Given the description of an element on the screen output the (x, y) to click on. 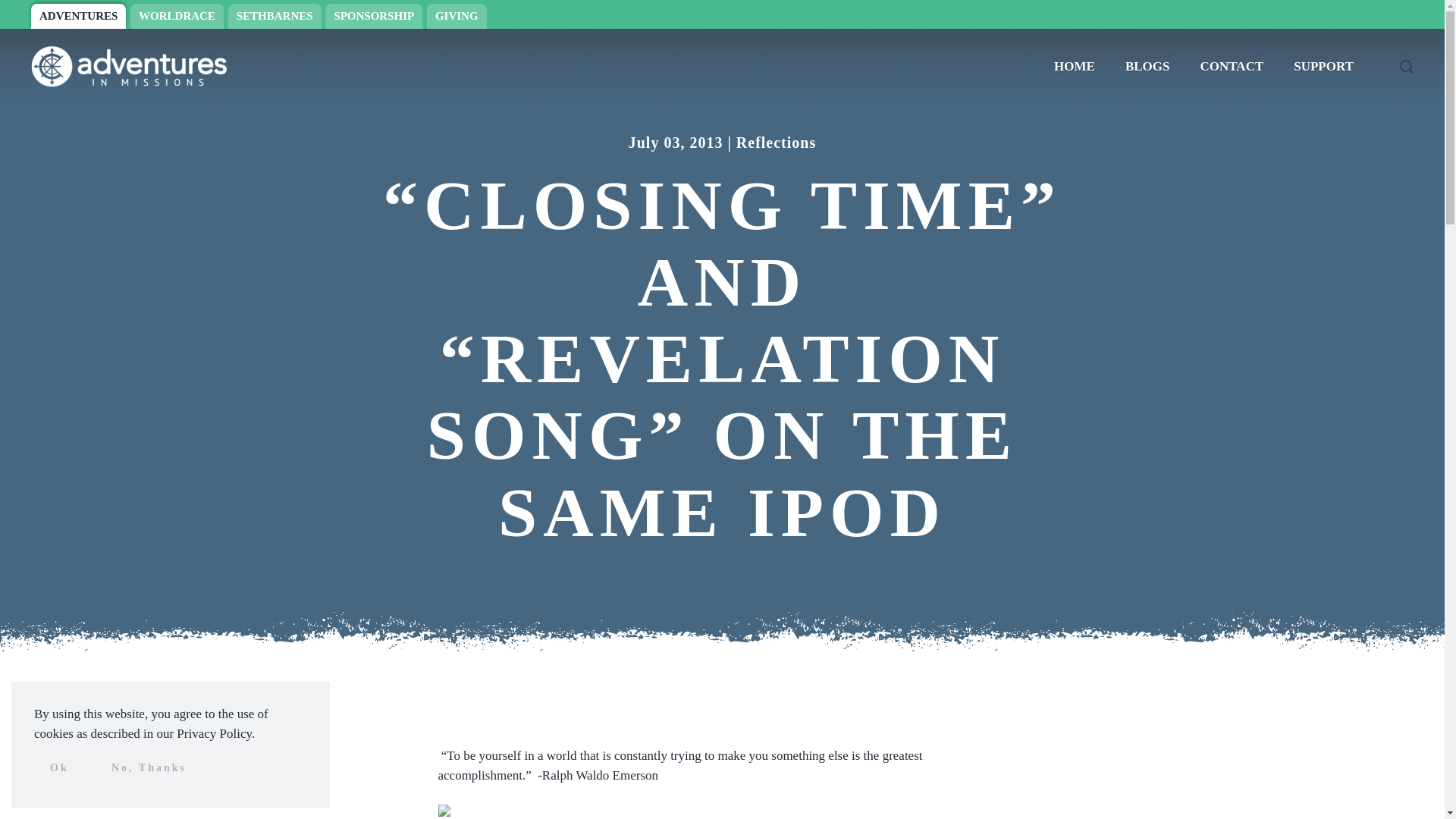
CONTACT (1231, 66)
SPONSORSHIP (373, 16)
ADVENTURES (77, 16)
SUPPORT (1323, 66)
GIVING (456, 16)
BLOGS (1147, 66)
SETHBARNES (274, 16)
Reflections (775, 142)
WORLDRACE (177, 16)
HOME (1074, 66)
